Given the description of an element on the screen output the (x, y) to click on. 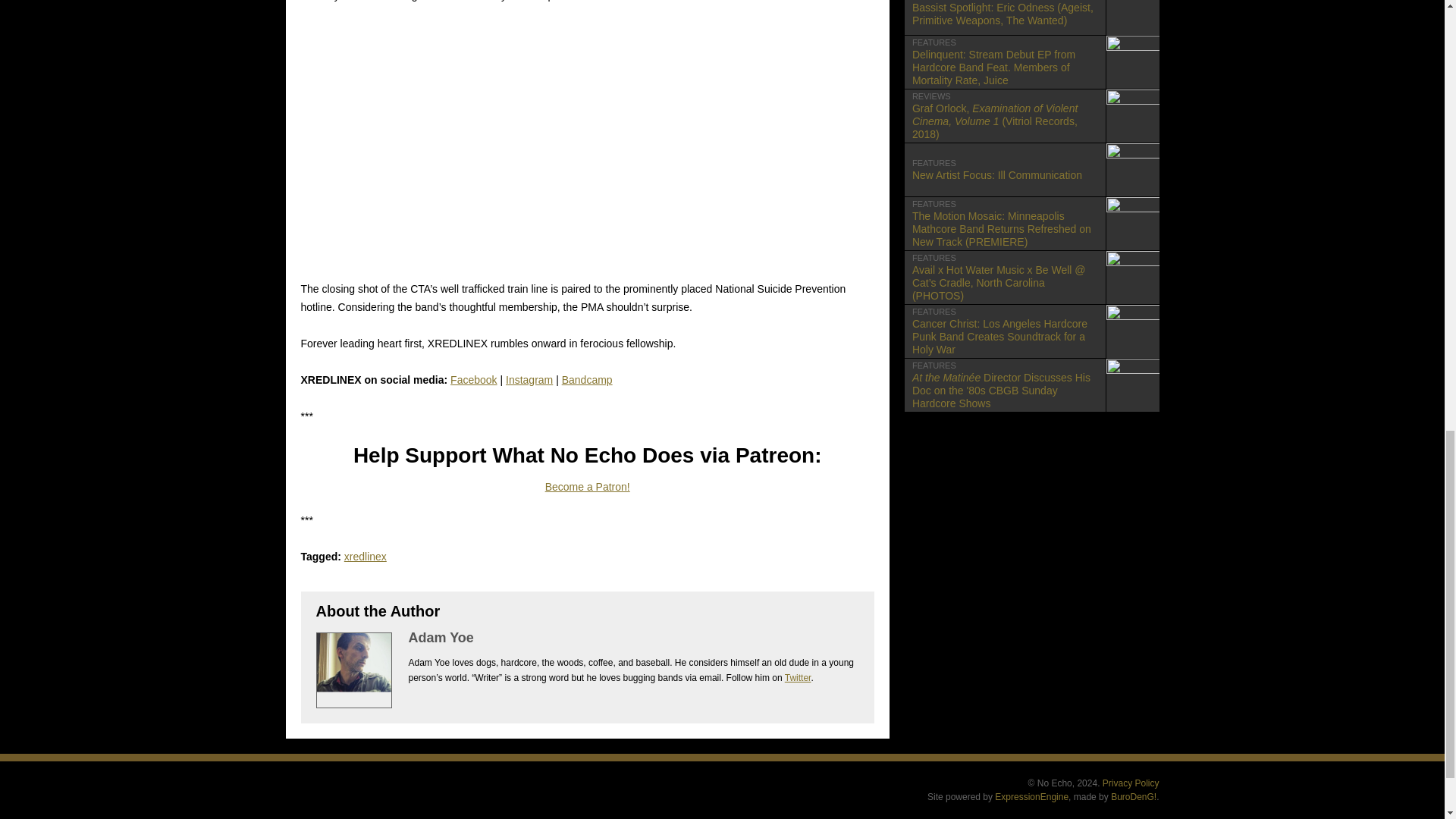
YouTube video player (533, 141)
Twitter (797, 677)
Become a Patron! (1031, 169)
Instagram (587, 486)
Bandcamp (529, 379)
xredlinex (587, 379)
Privacy Policy (365, 556)
